Given the description of an element on the screen output the (x, y) to click on. 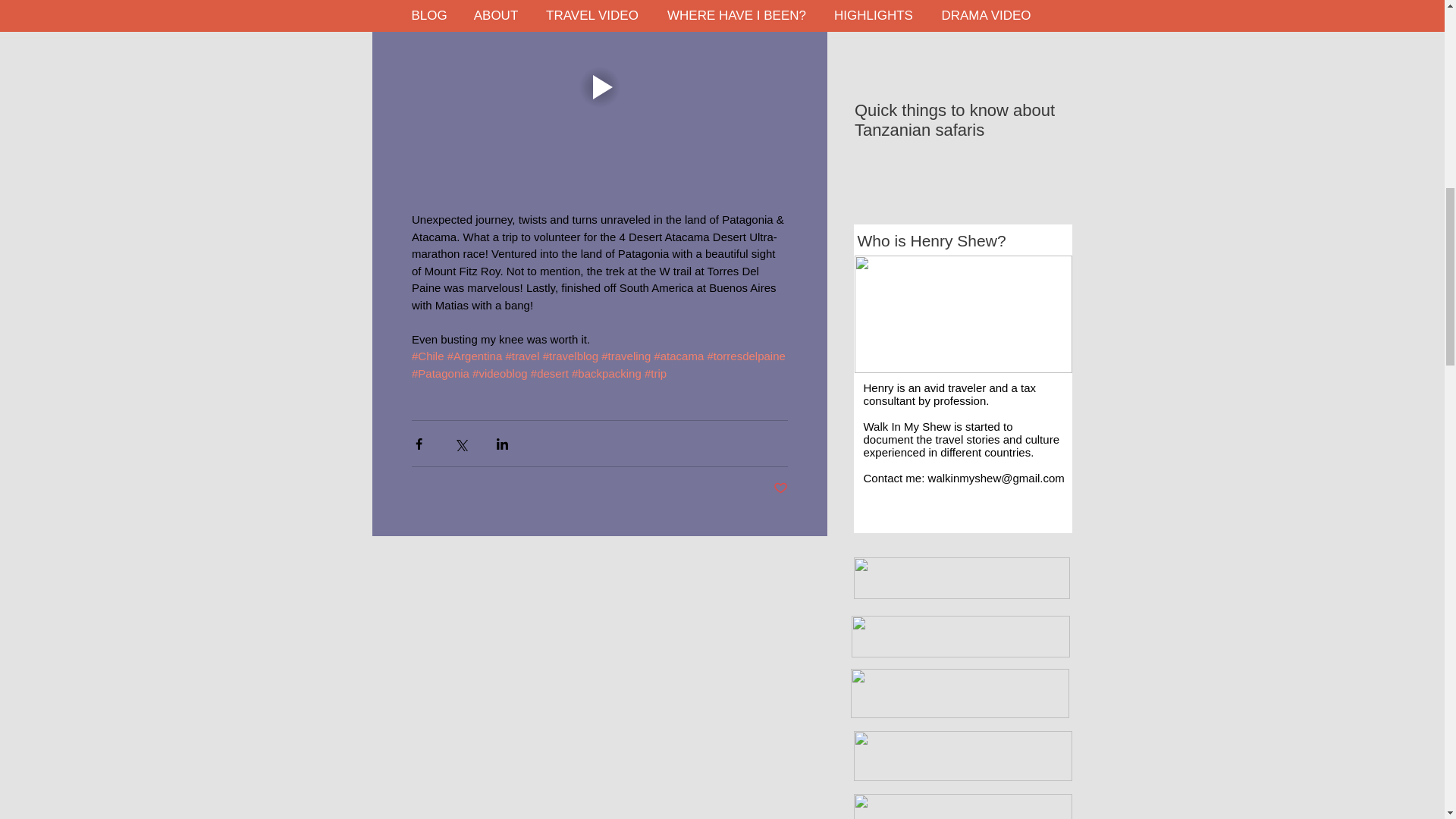
Australia Thumbnail.jpg (962, 756)
Quick things to know about Tanzanian safaris (962, 120)
Bolivia Thumbnail.jpg (962, 806)
Africa Thumbnail.jpg (961, 577)
Day 5: Machu Picchu (962, 314)
Post not marked as liked (780, 488)
Alaska Thumbnail.jpg (959, 636)
